Given the description of an element on the screen output the (x, y) to click on. 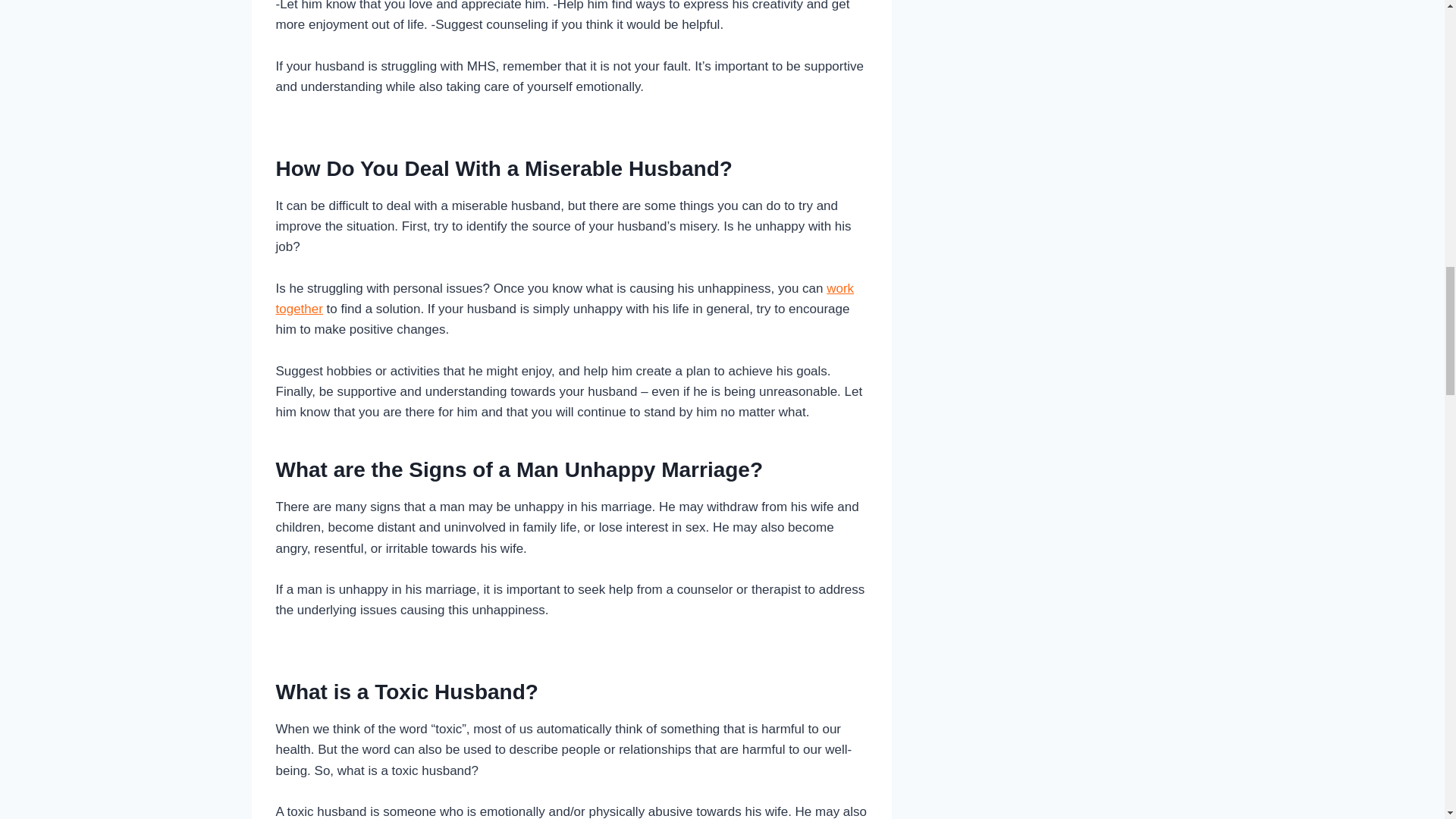
work together (565, 298)
